Given the description of an element on the screen output the (x, y) to click on. 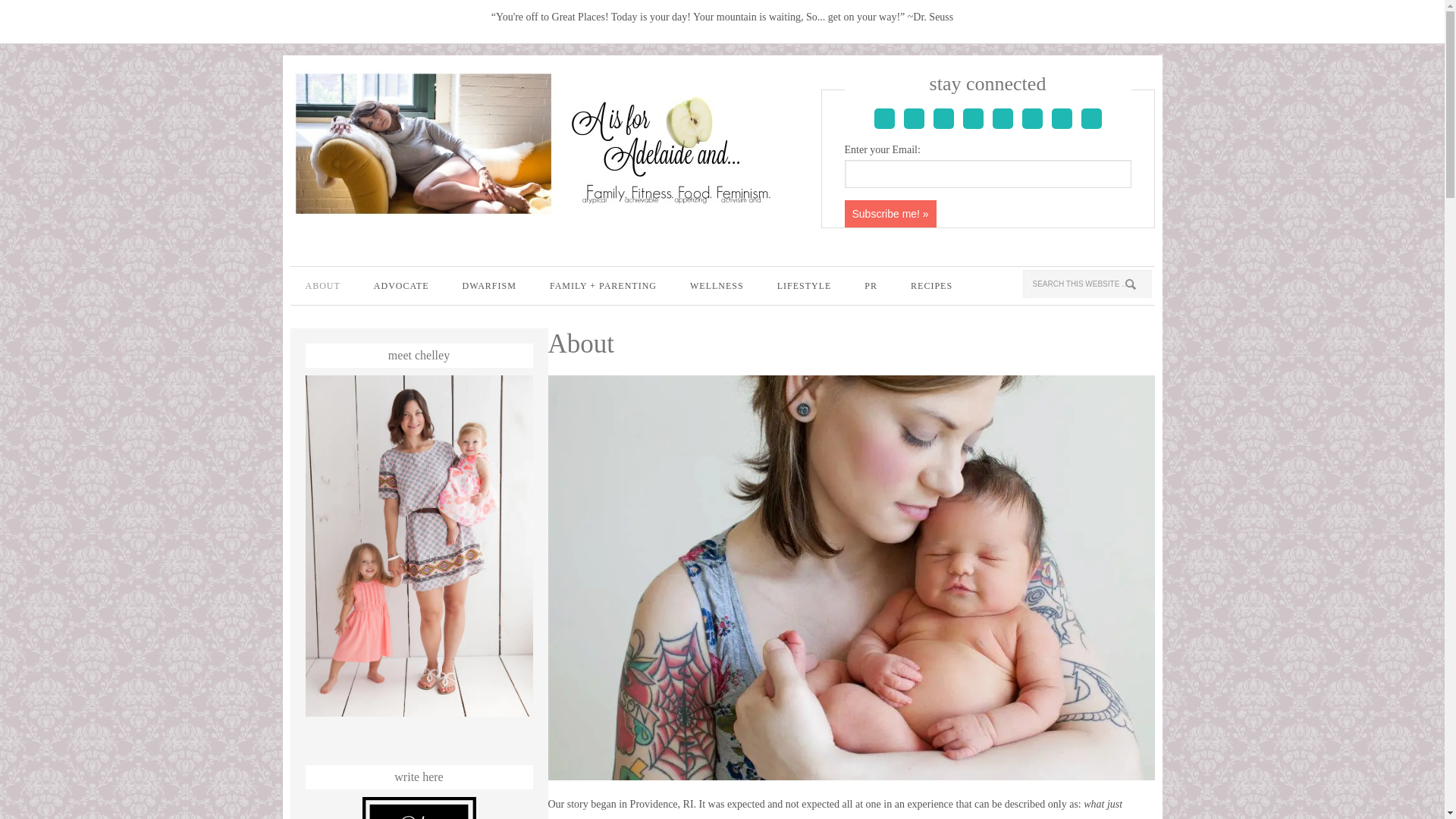
RECIPES (931, 285)
A is for Adelaide and... (552, 144)
ABOUT (322, 285)
ADVOCATE (401, 285)
DWARFISM (488, 285)
LIFESTYLE (804, 285)
WELLNESS (716, 285)
PR (870, 285)
